Given the description of an element on the screen output the (x, y) to click on. 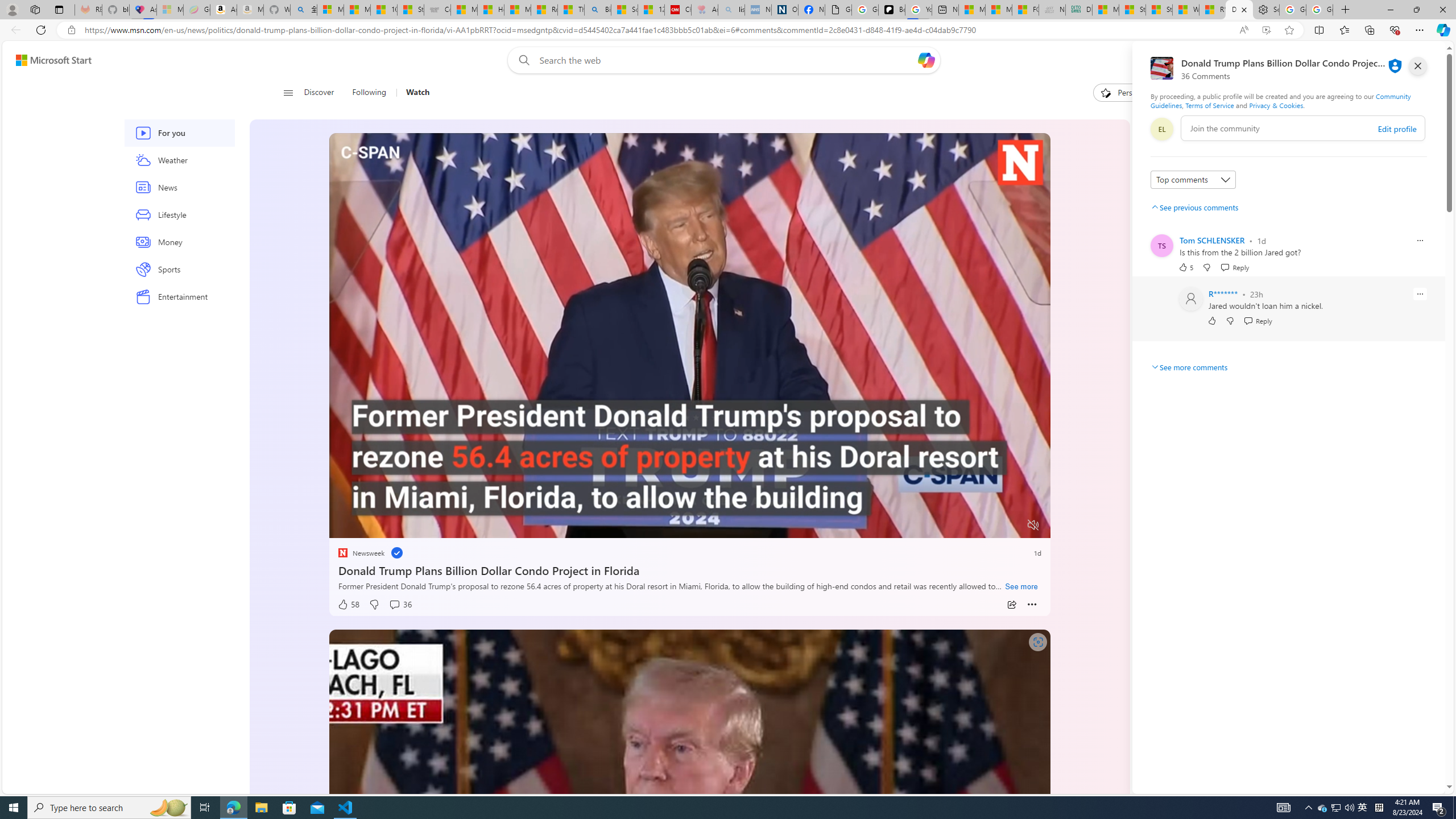
Seek Forward (391, 525)
View comments 36 Comment (400, 604)
Arthritis: Ask Health Professionals - Sleeping (703, 9)
